Given the description of an element on the screen output the (x, y) to click on. 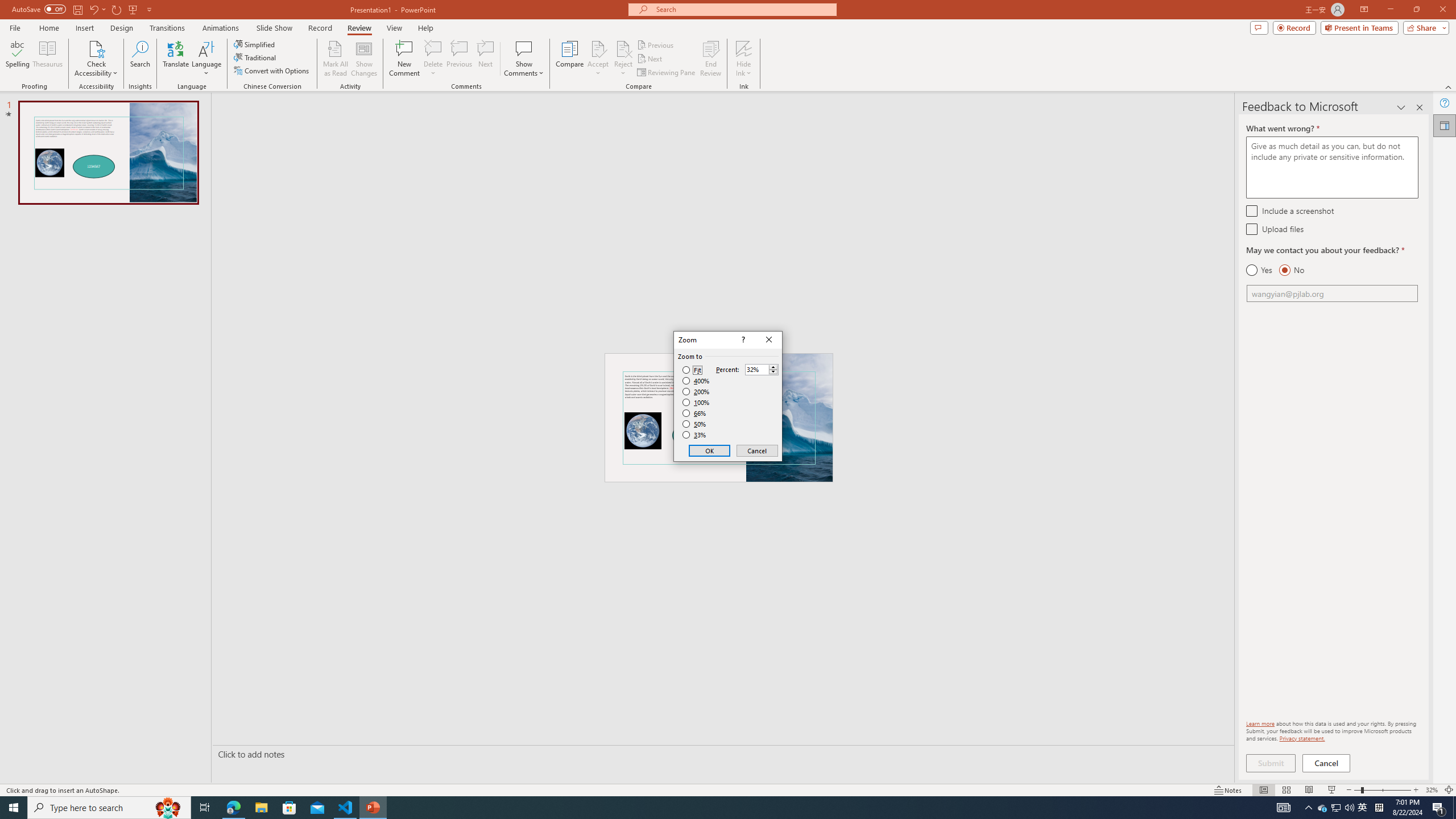
Simplified (254, 44)
Hide Ink (743, 58)
Fit (691, 370)
Compare (569, 58)
Delete (432, 48)
